Given the description of an element on the screen output the (x, y) to click on. 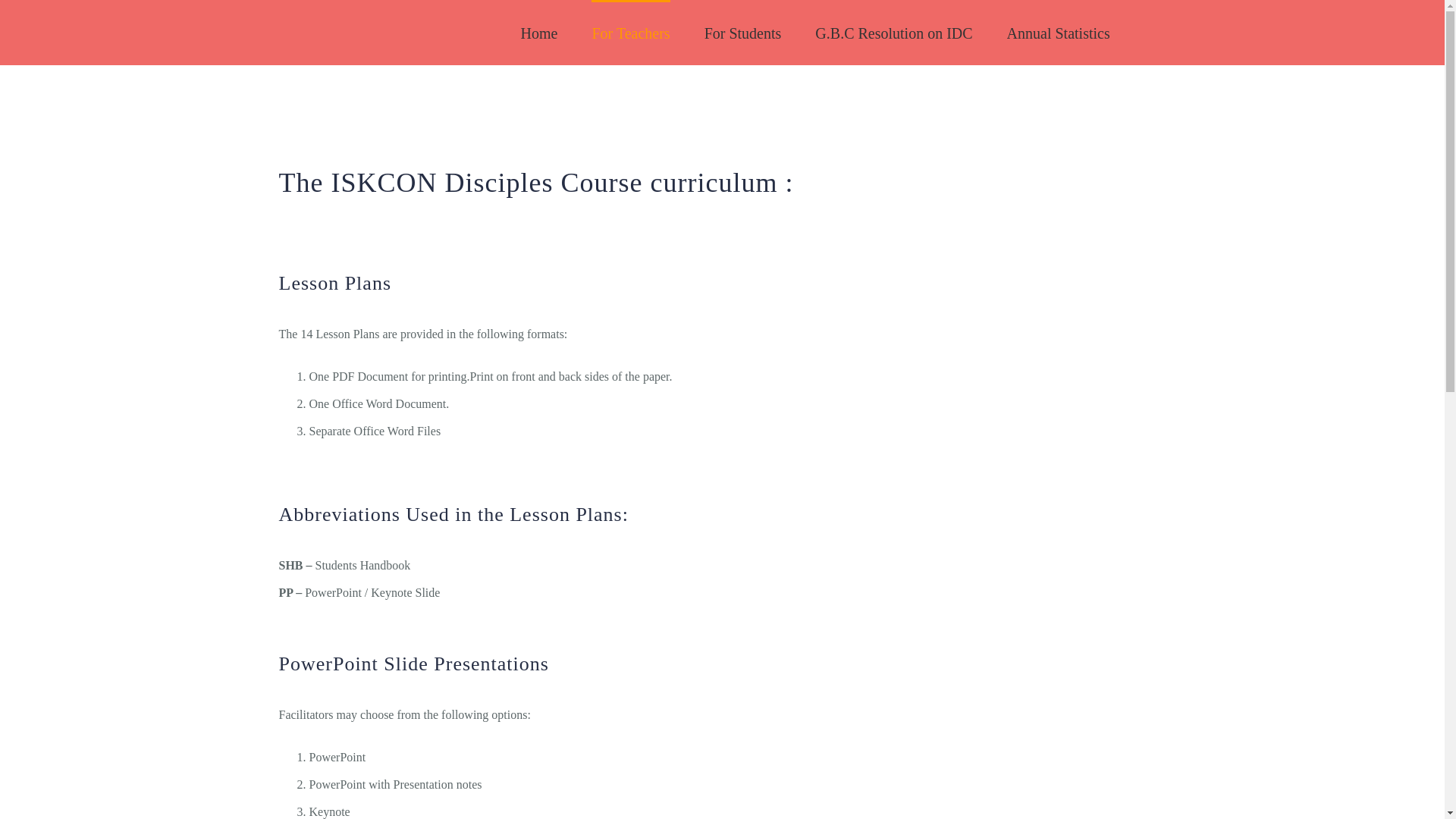
Annual Statistics (1058, 32)
G.B.C Resolution on IDC (893, 32)
For Teachers (630, 32)
For Students (742, 32)
